Given the description of an element on the screen output the (x, y) to click on. 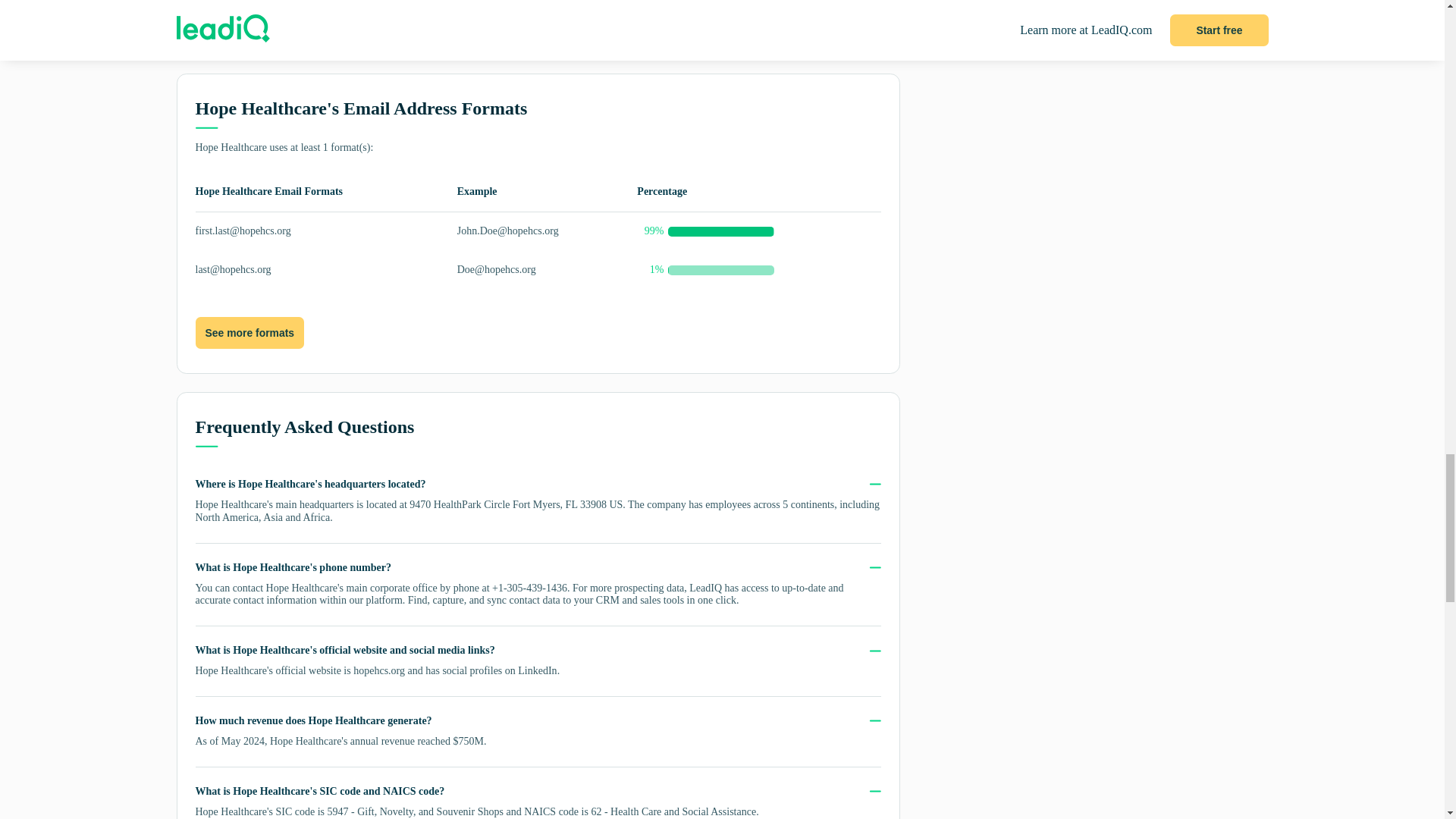
LinkedIn (537, 670)
See more formats (249, 332)
hopehcs.org (378, 670)
See more formats (249, 333)
